Given the description of an element on the screen output the (x, y) to click on. 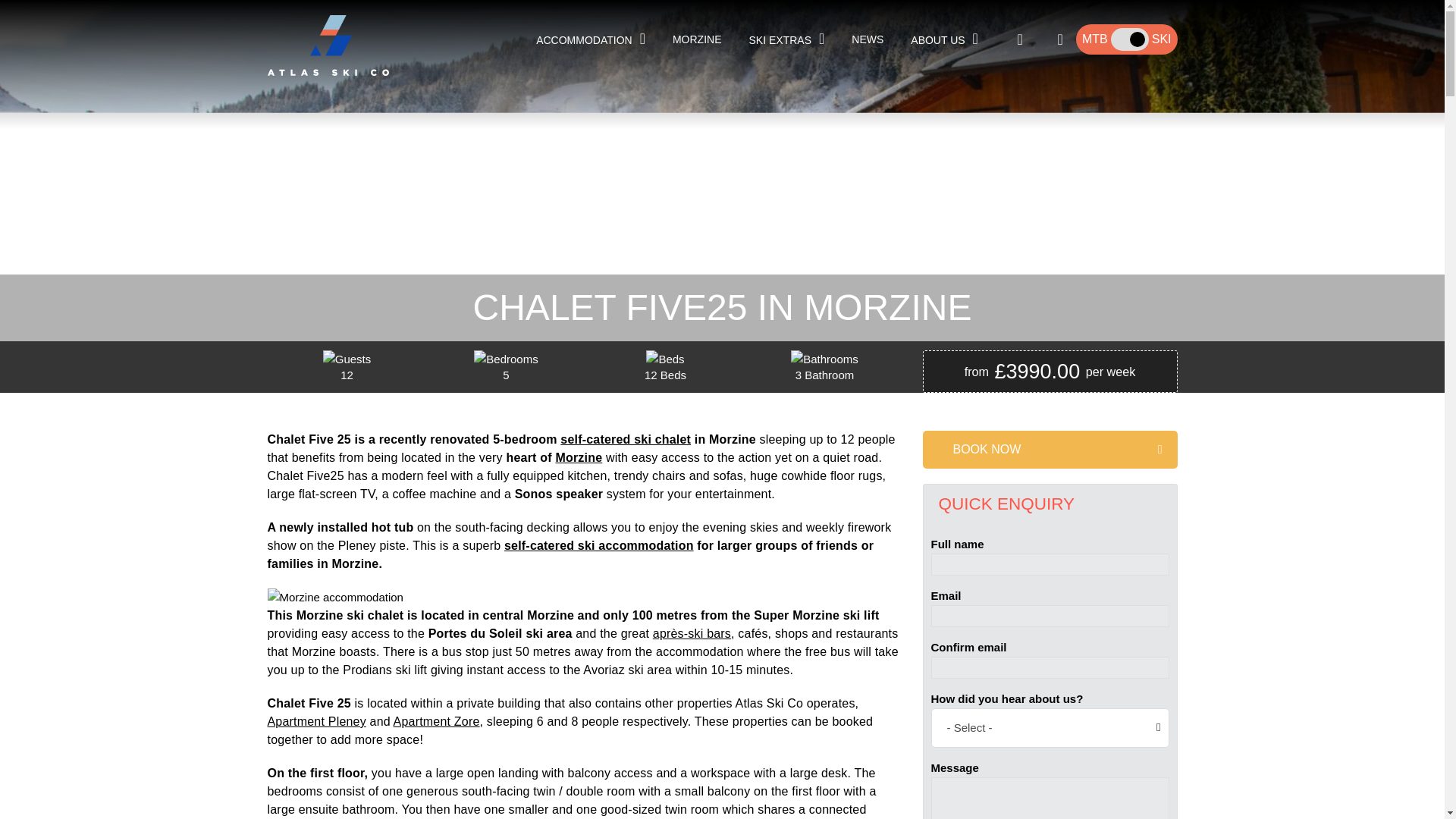
MORZINE (697, 39)
Ski Holiday Accommodation  (590, 39)
News (867, 39)
BOOK NOW (1048, 449)
Ski Holiday Extras (1126, 39)
ABOUT US (786, 39)
Morzine Ski Resort (944, 39)
ACCOMMODATION (697, 39)
Skip to main content (590, 39)
